Given the description of an element on the screen output the (x, y) to click on. 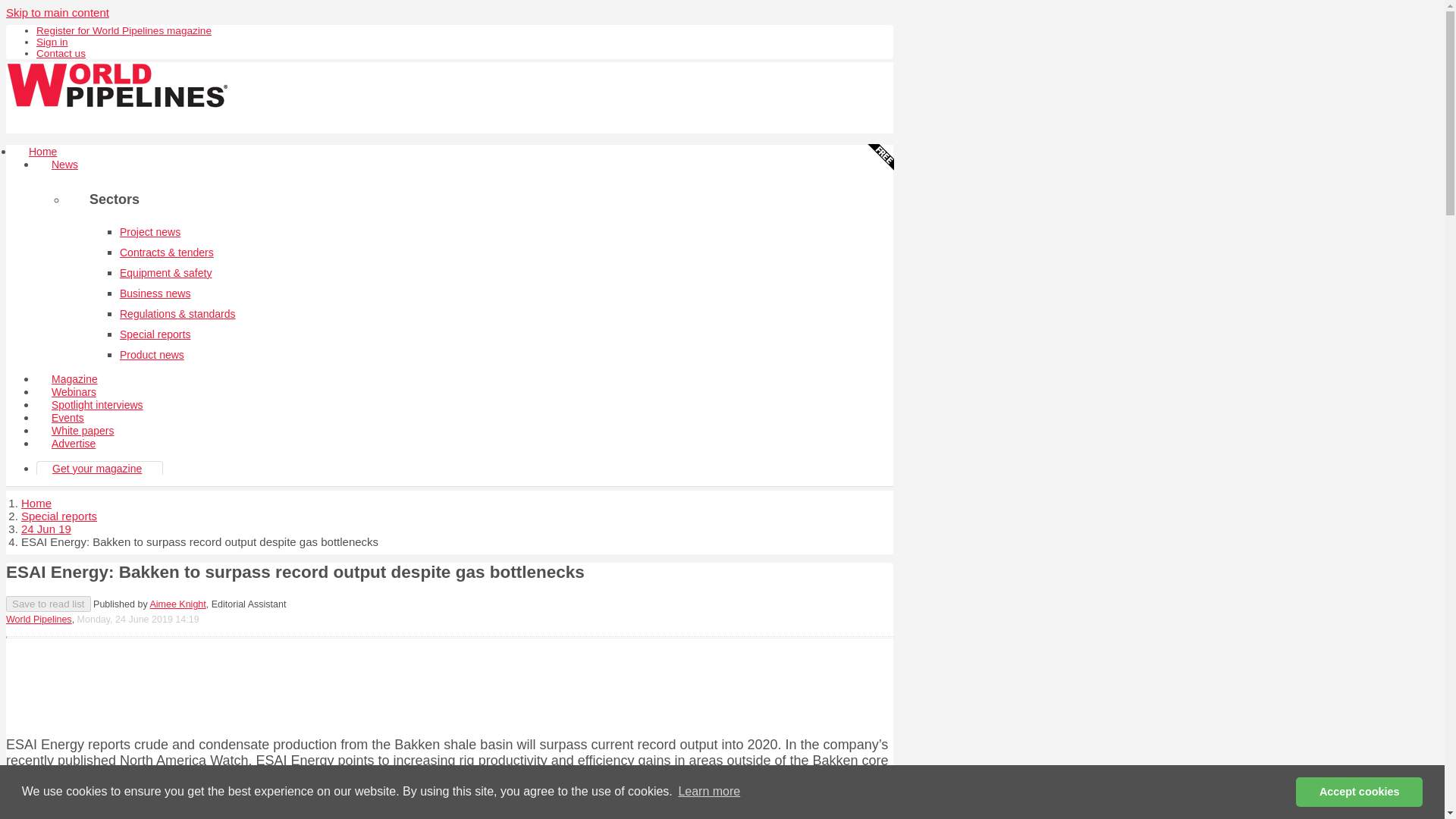
Spotlight interviews (97, 404)
Home (35, 502)
Events (67, 417)
Contact us (60, 52)
Business news (154, 293)
Learn more (708, 791)
Home (42, 151)
Product news (151, 354)
News (64, 164)
Special reports (154, 334)
Register for World Pipelines magazine (123, 30)
3rd party ad content (449, 683)
Save to read list (47, 603)
Skip to main content (57, 11)
Project news (149, 232)
